Given the description of an element on the screen output the (x, y) to click on. 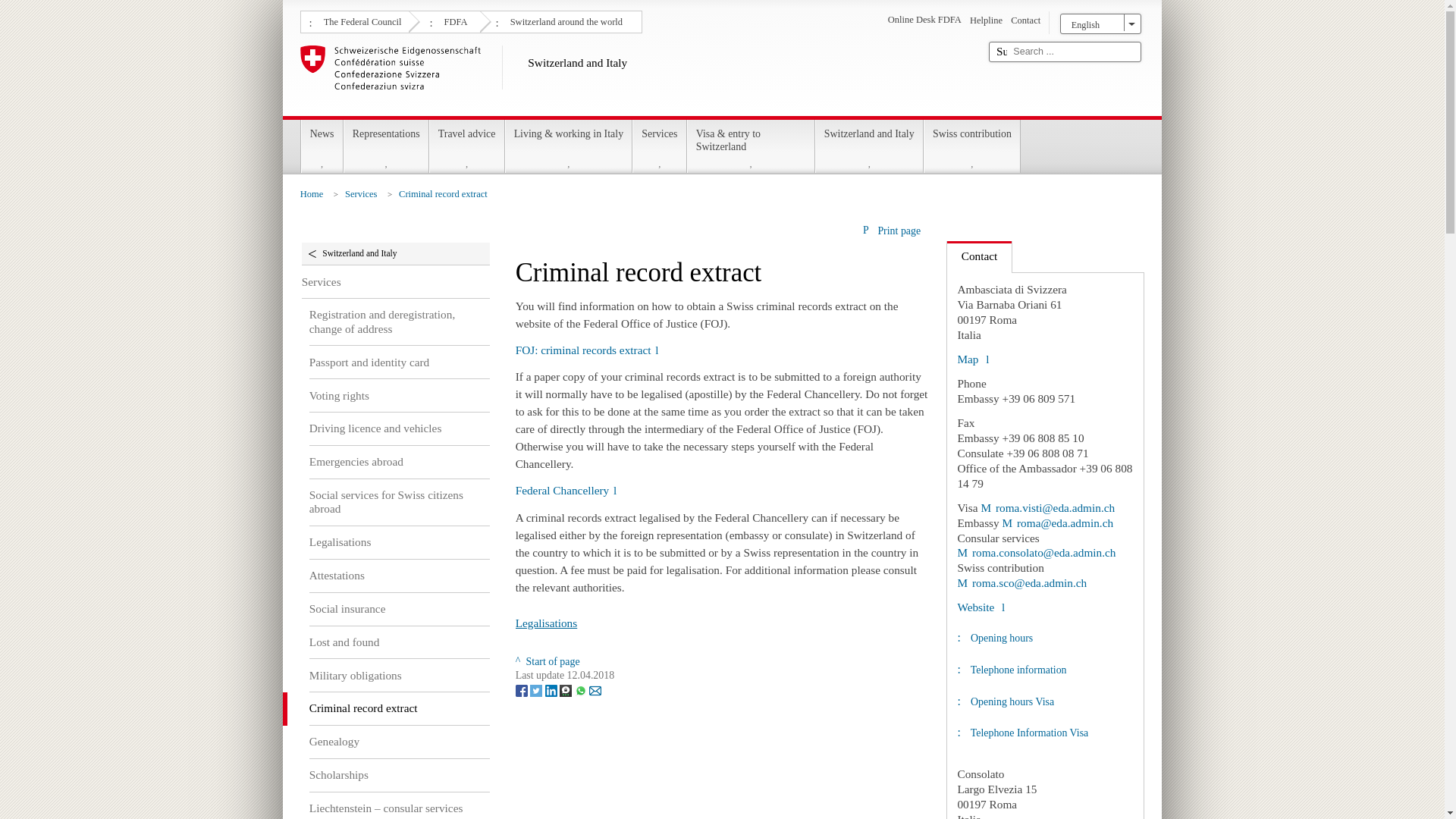
External Link (566, 490)
External Link (972, 358)
External Link (1047, 507)
FDFA (454, 20)
External Link (980, 606)
External Link (1058, 522)
External Link (1035, 552)
External Link (587, 349)
Switzerland and Italy (637, 76)
Switzerland around the world (564, 20)
External Link (1021, 582)
The Federal Council (360, 20)
